Given the description of an element on the screen output the (x, y) to click on. 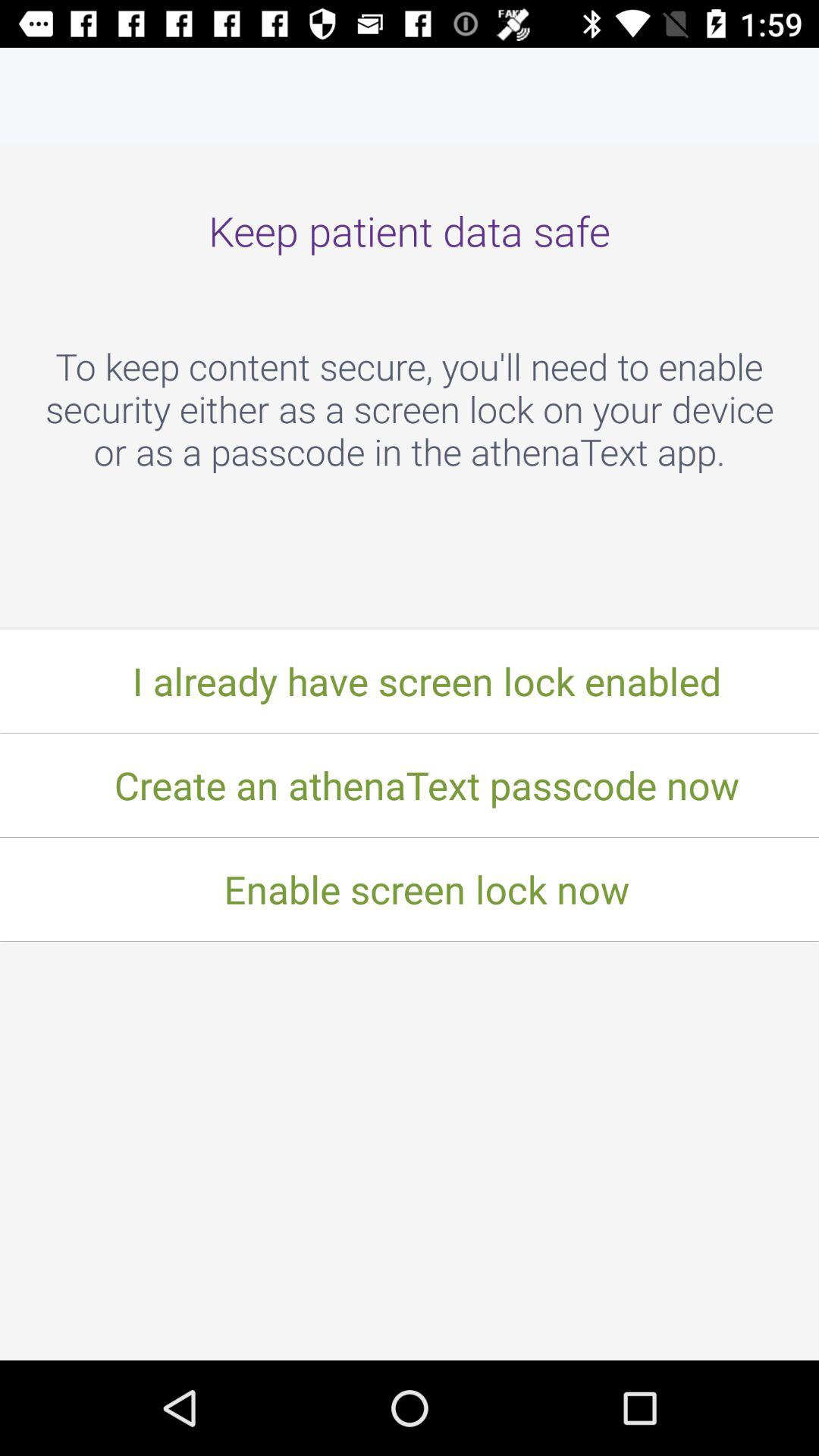
turn on create an athenatext item (409, 785)
